Given the description of an element on the screen output the (x, y) to click on. 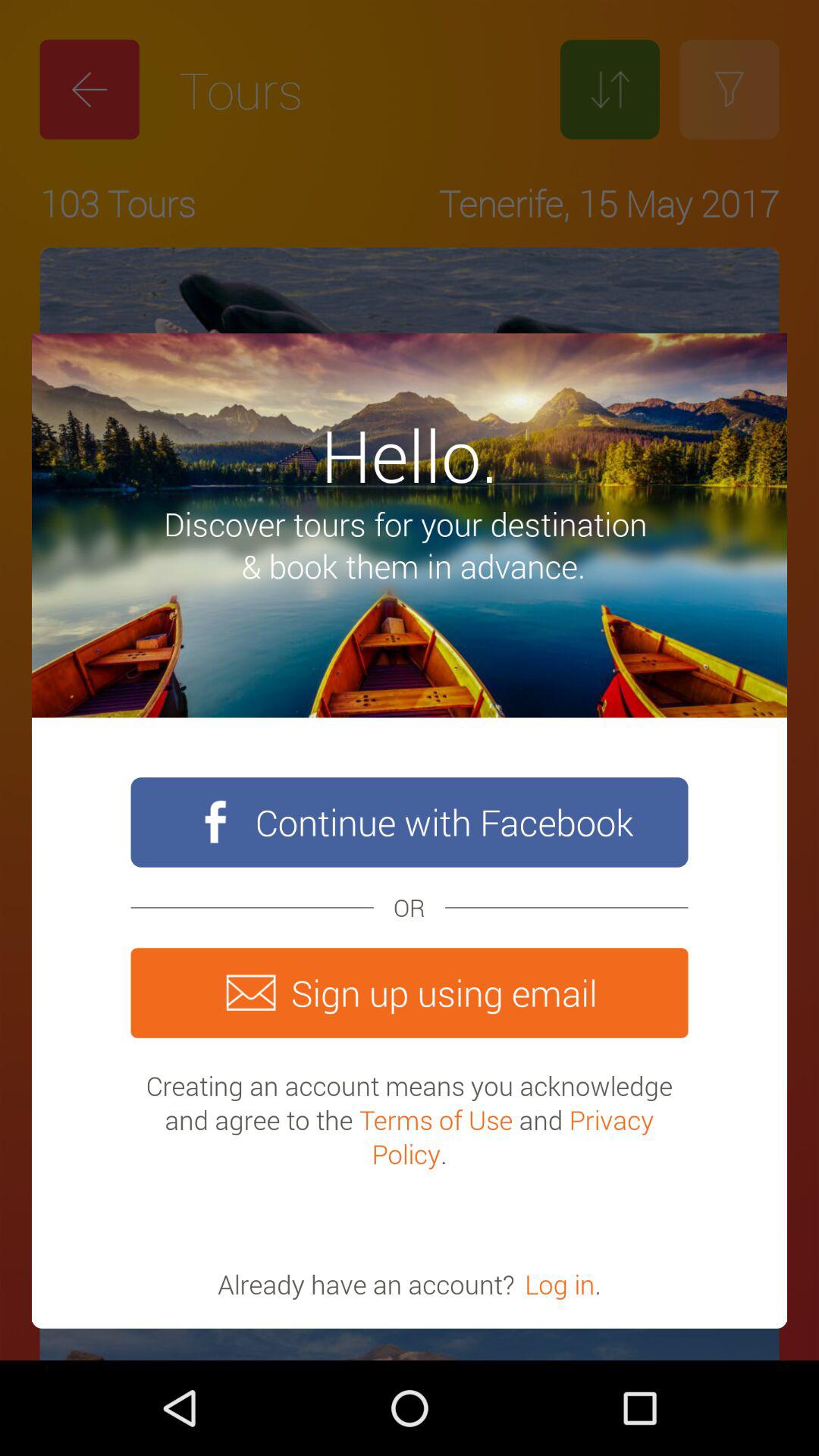
tap item next to the . (559, 1283)
